Given the description of an element on the screen output the (x, y) to click on. 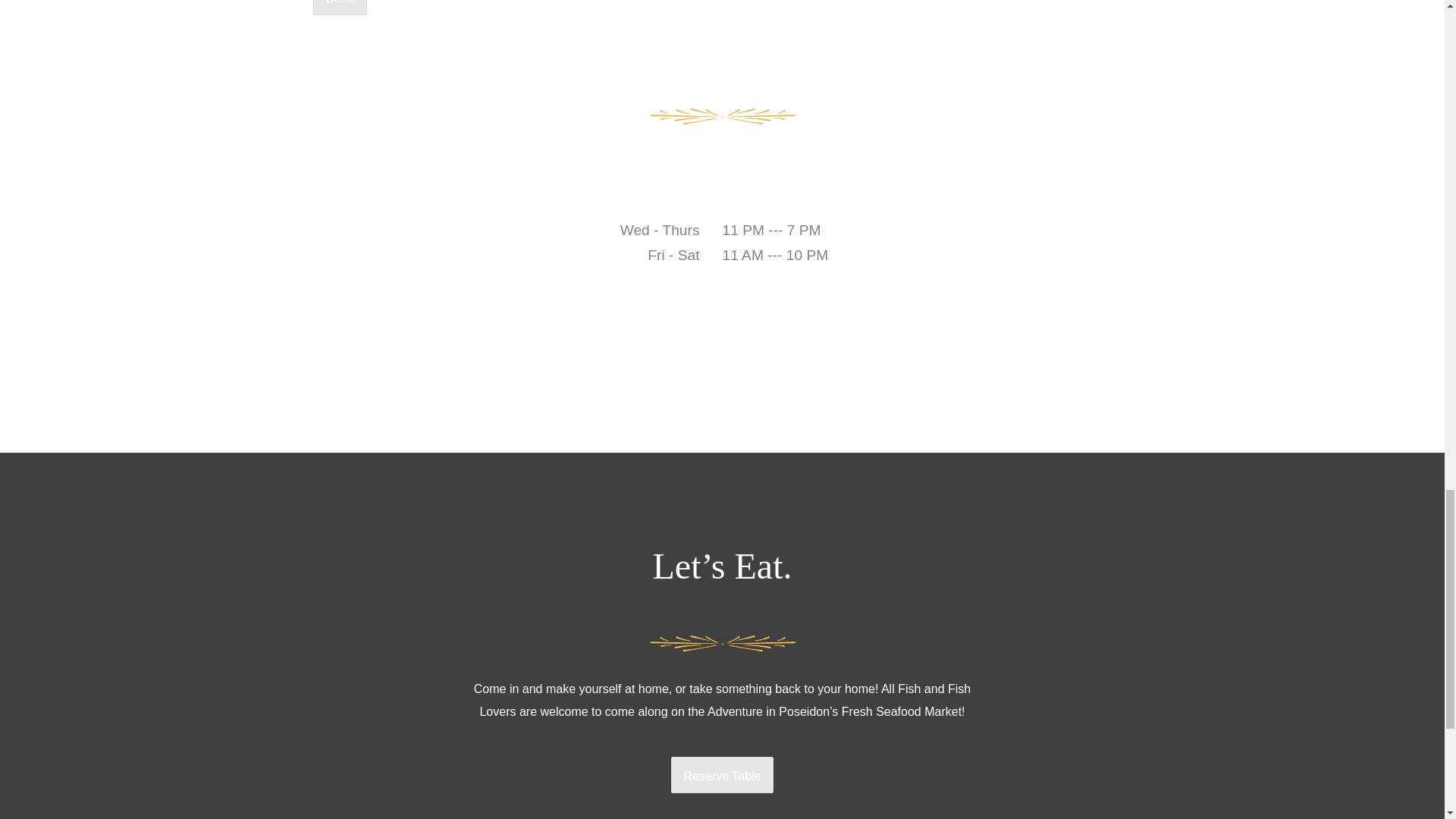
Send (339, 7)
Reserve Table (721, 774)
Reserve Table (721, 775)
